Given the description of an element on the screen output the (x, y) to click on. 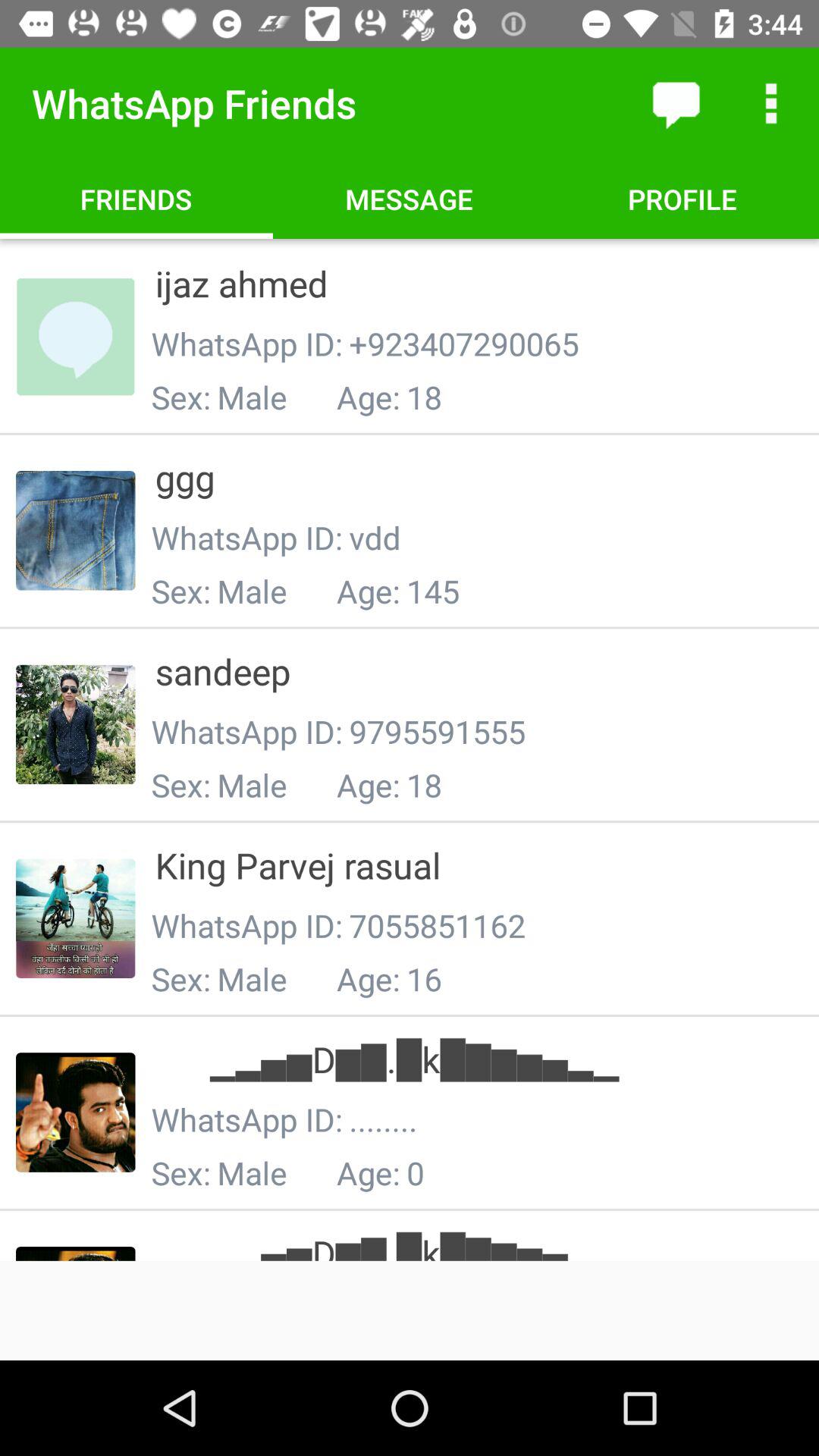
more options (771, 103)
